Given the description of an element on the screen output the (x, y) to click on. 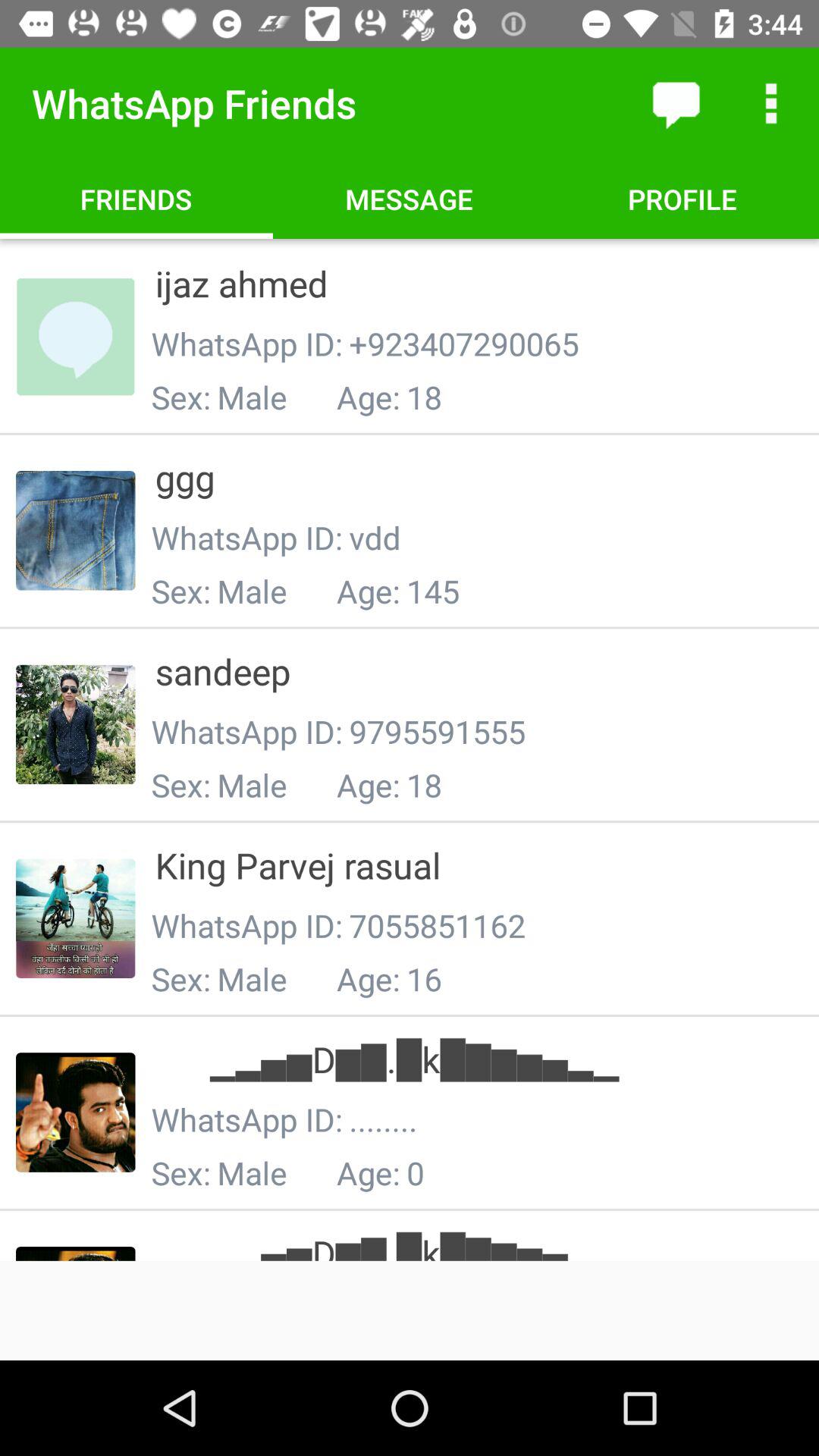
more options (771, 103)
